Given the description of an element on the screen output the (x, y) to click on. 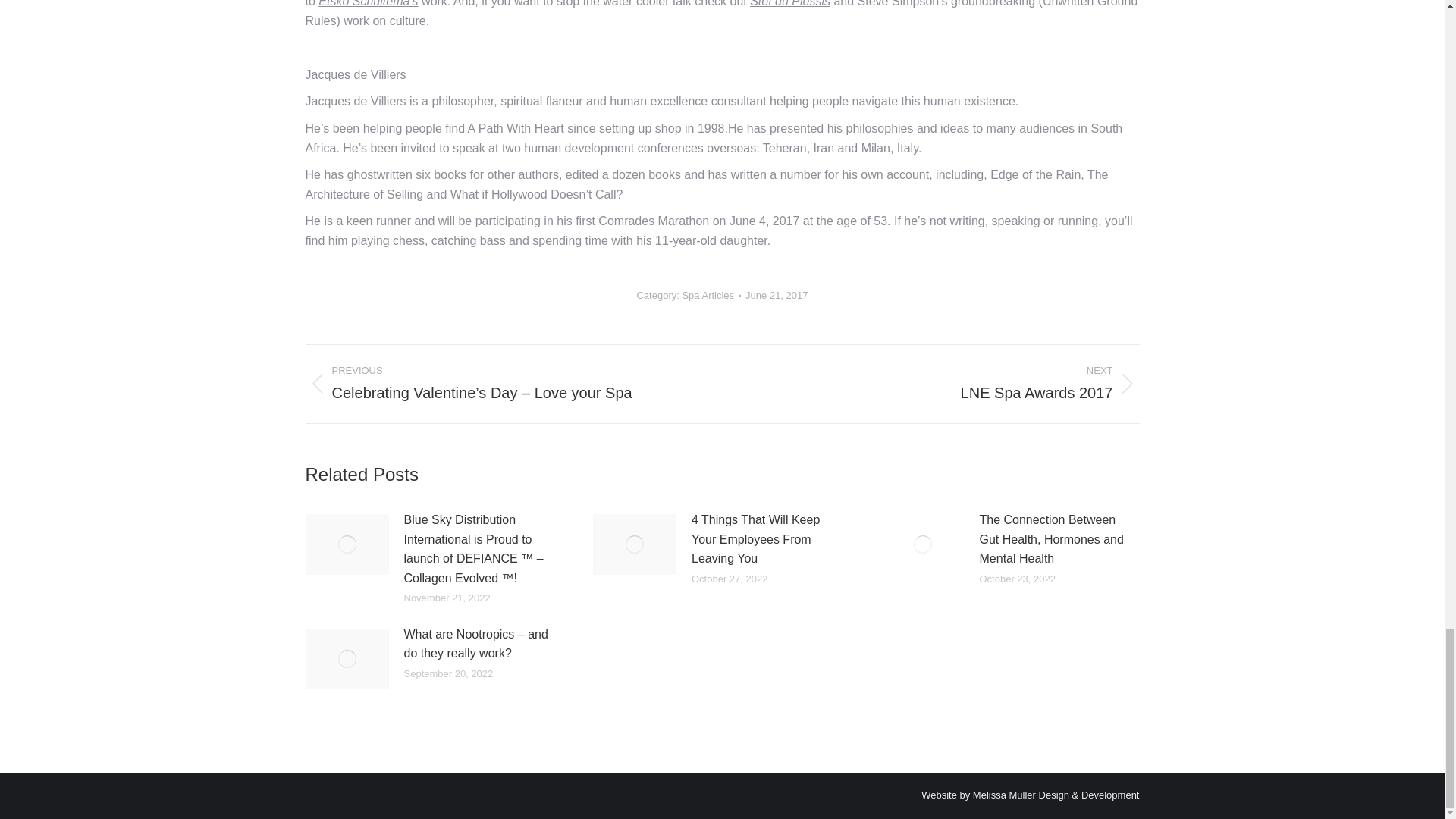
9:22 am (776, 295)
